Given the description of an element on the screen output the (x, y) to click on. 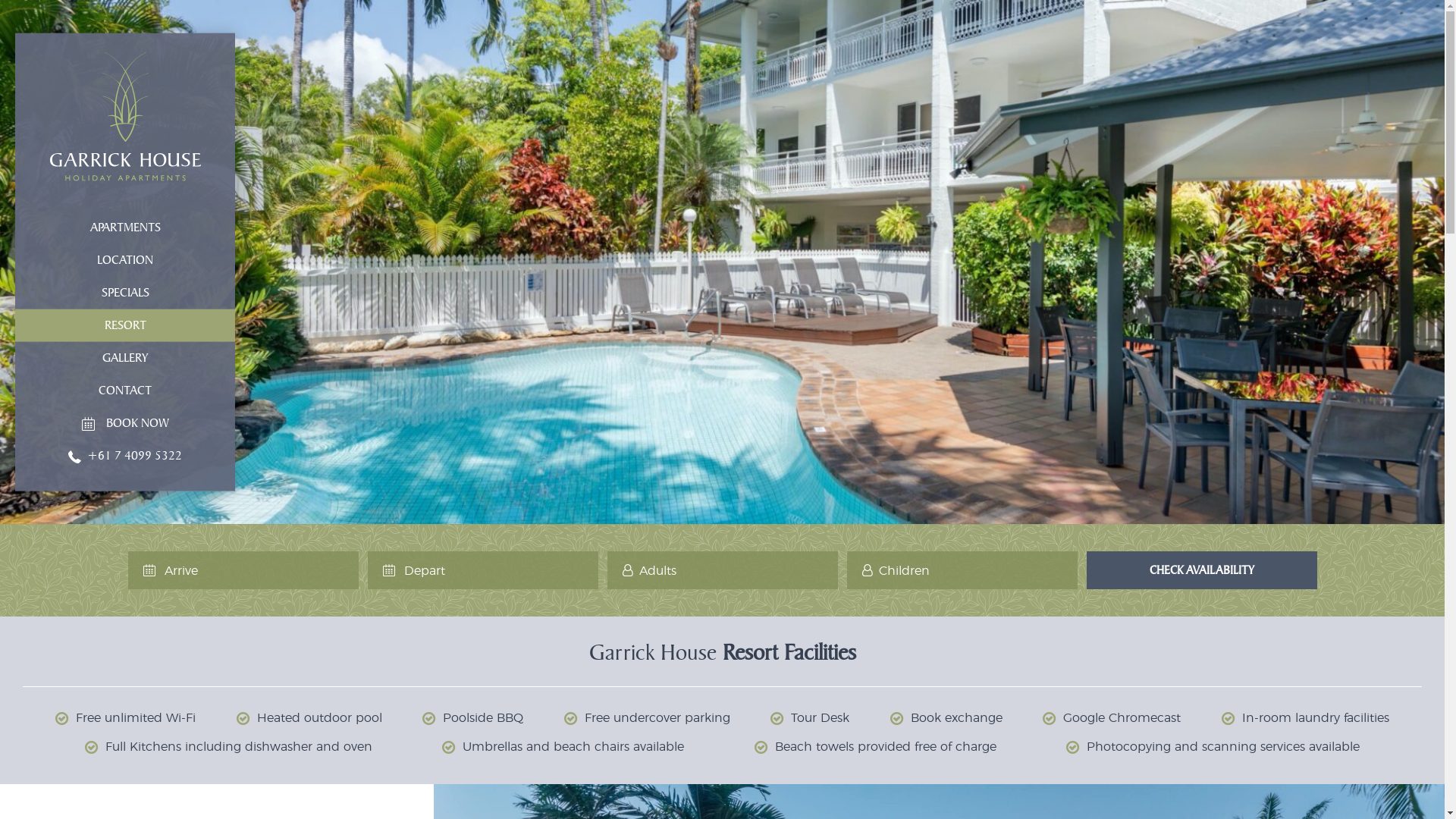
RESORT Element type: text (125, 325)
GALLERY Element type: text (125, 358)
LOCATION Element type: text (125, 259)
APARTMENTS Element type: text (125, 226)
SPECIALS Element type: text (125, 292)
Check Availability Element type: text (1200, 570)
BOOK NOW Element type: text (125, 423)
+61 7 4099 5322 Element type: text (125, 455)
Garrick House Port Douglas Element type: hover (125, 115)
CONTACT Element type: text (125, 390)
